Given the description of an element on the screen output the (x, y) to click on. 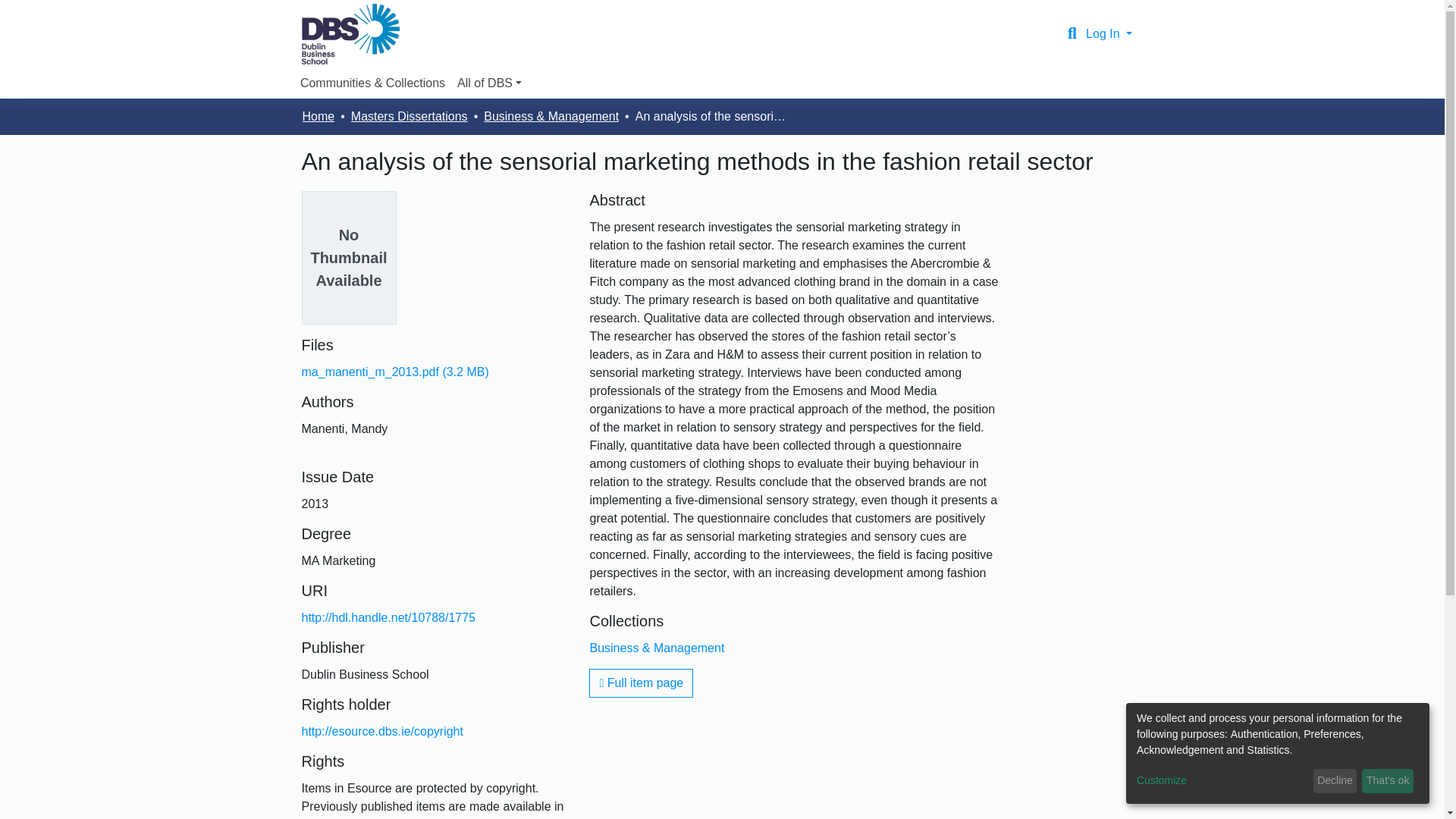
All of DBS (489, 82)
Full item page (641, 683)
Decline (1334, 781)
Masters Dissertations (408, 116)
That's ok (1387, 781)
Search (1072, 34)
Home (317, 116)
Log In (1108, 33)
Customize (1222, 780)
